Given the description of an element on the screen output the (x, y) to click on. 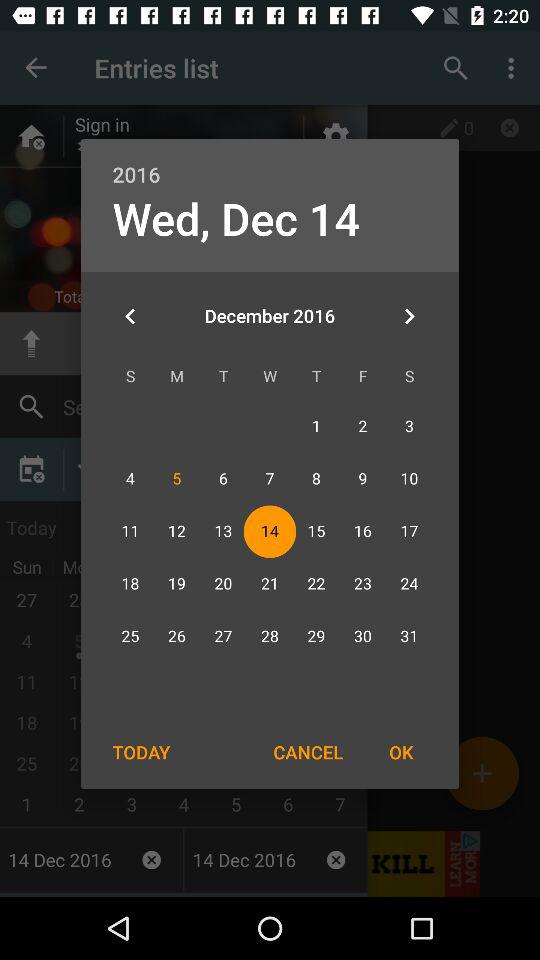
open ok item (401, 751)
